Given the description of an element on the screen output the (x, y) to click on. 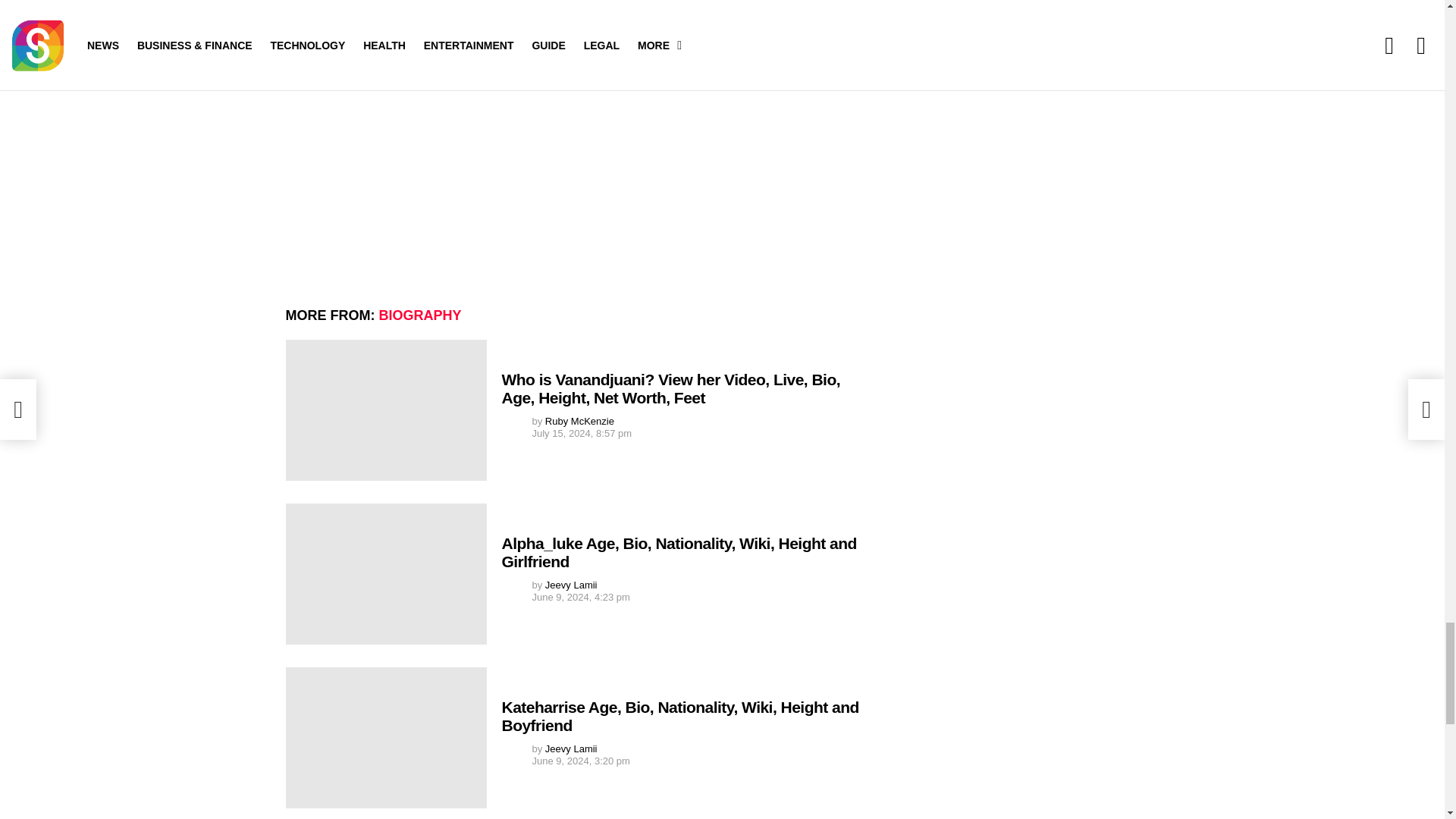
Posts by Ruby McKenzie (579, 420)
Posts by Jeevy Lamii (570, 584)
